Given the description of an element on the screen output the (x, y) to click on. 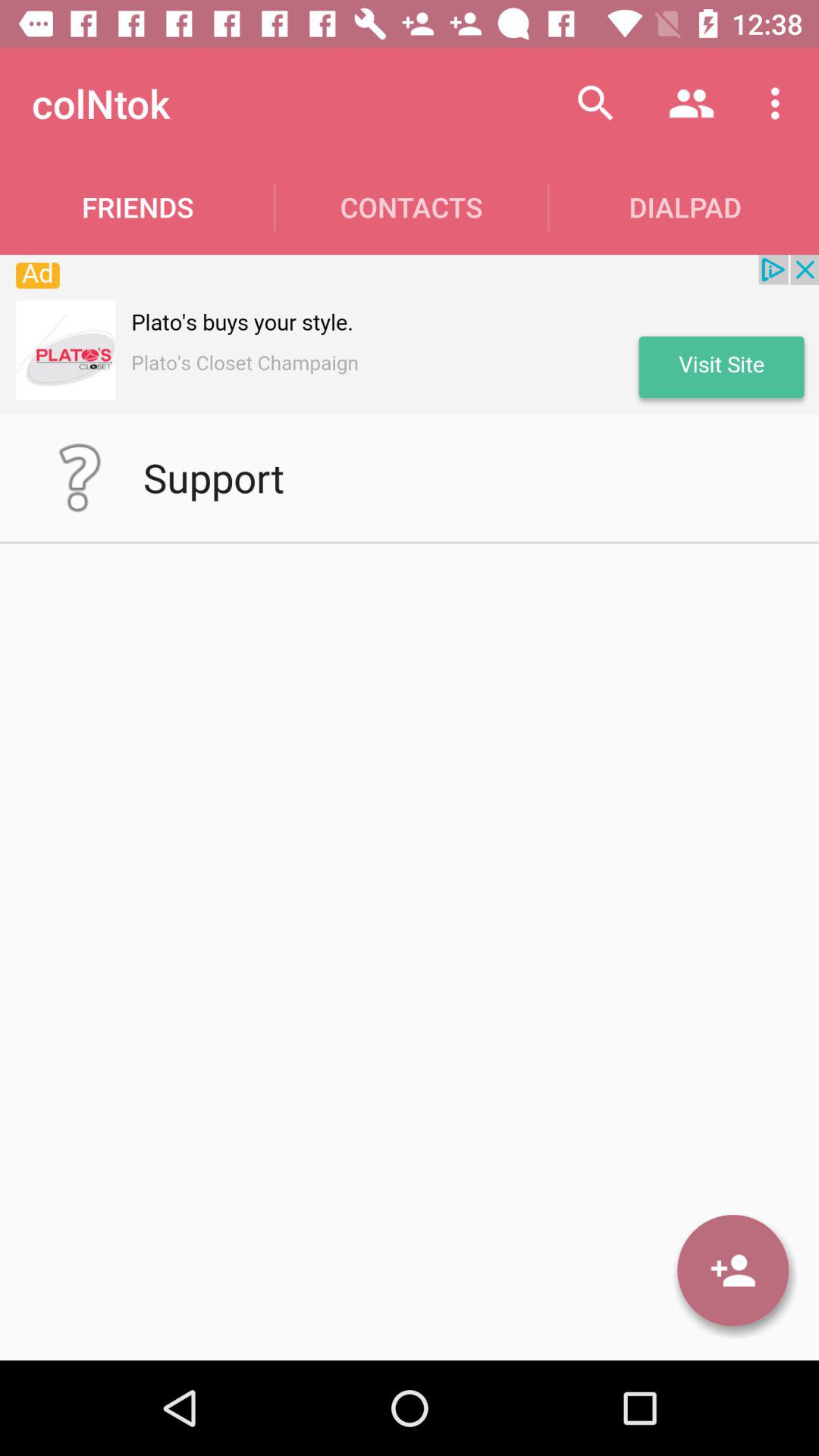
add friend (733, 1270)
